Given the description of an element on the screen output the (x, y) to click on. 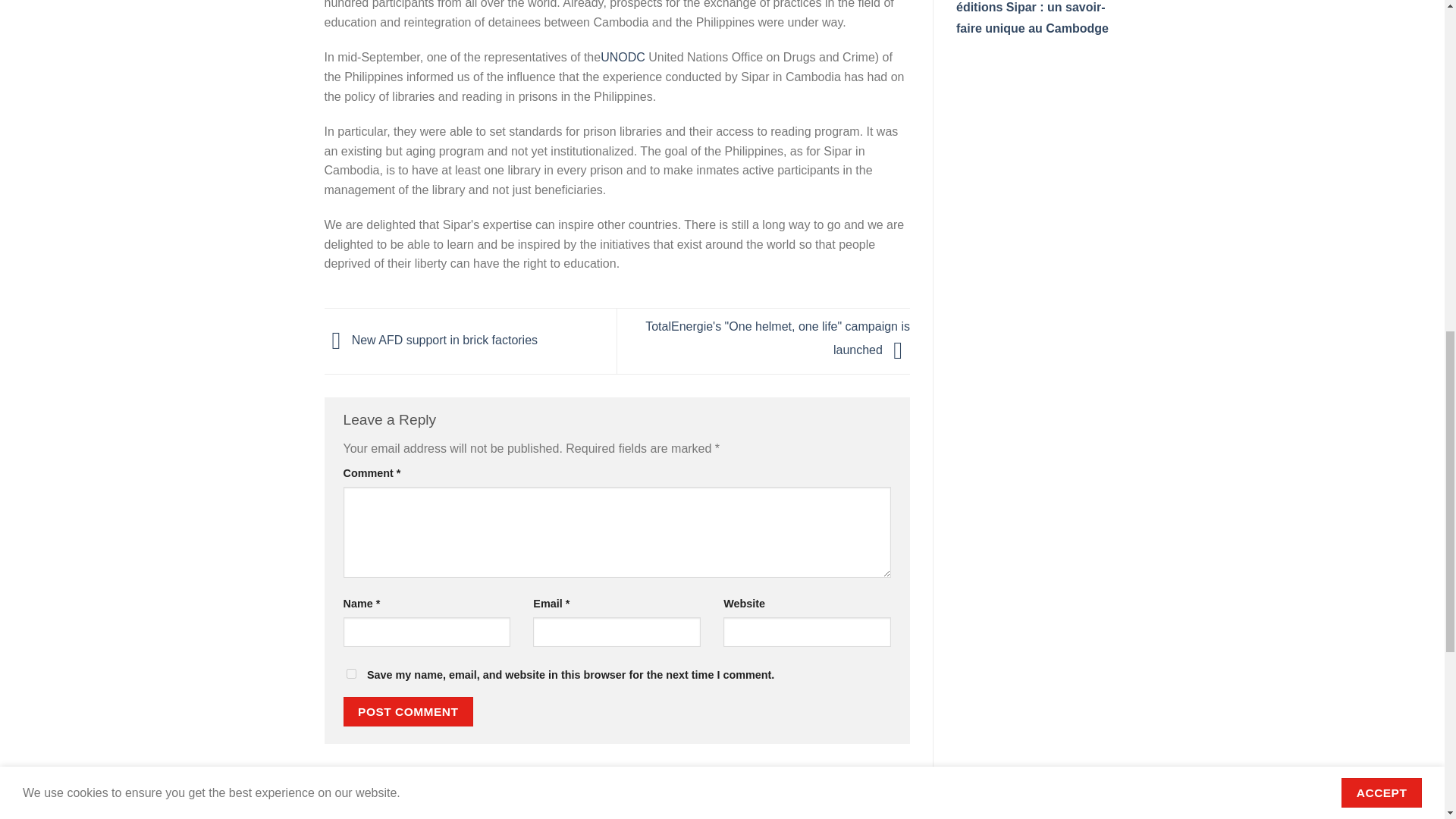
yes (350, 673)
Post Comment (407, 711)
